Given the description of an element on the screen output the (x, y) to click on. 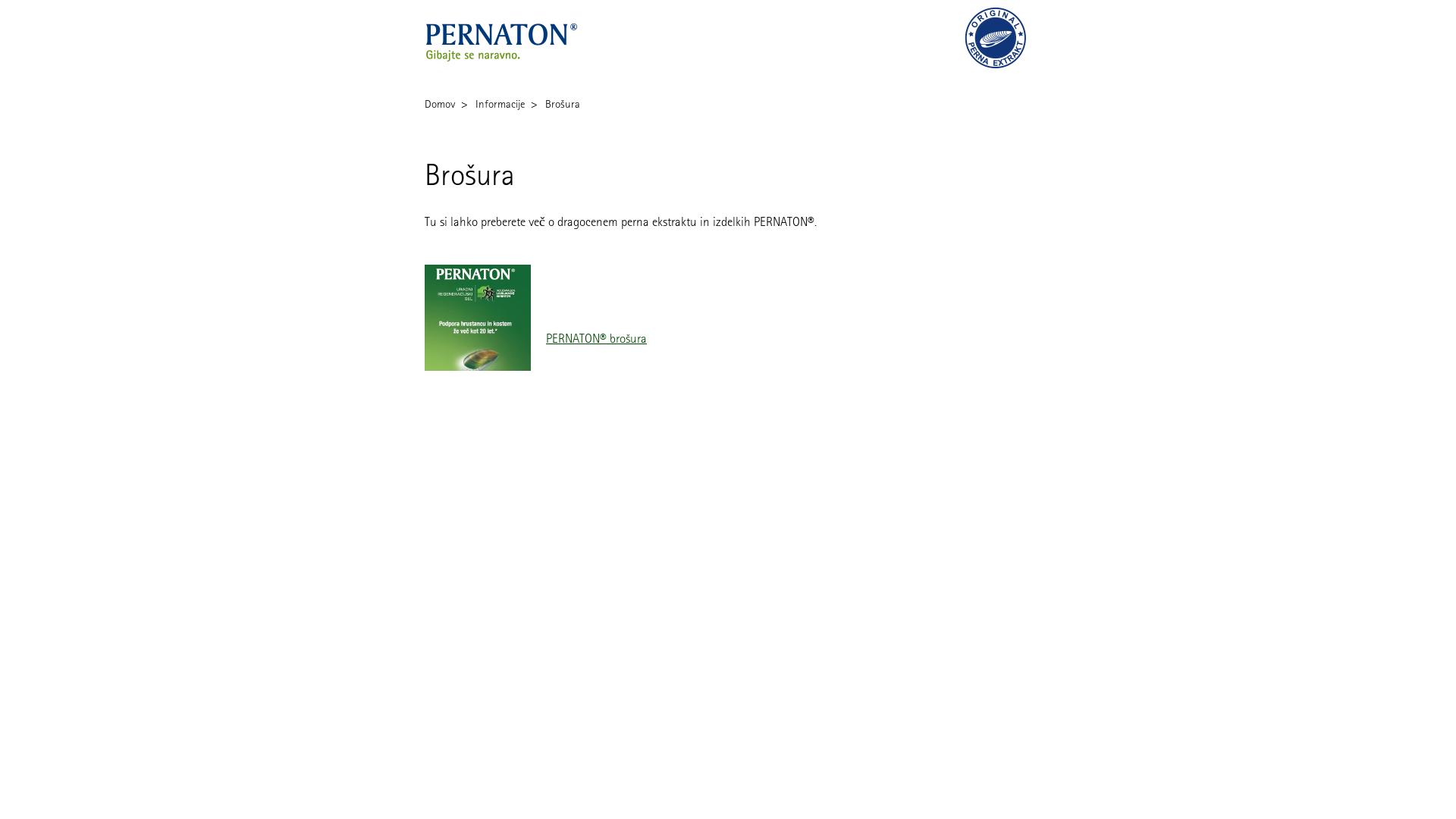
Pernaton Element type: hover (509, 37)
